Given the description of an element on the screen output the (x, y) to click on. 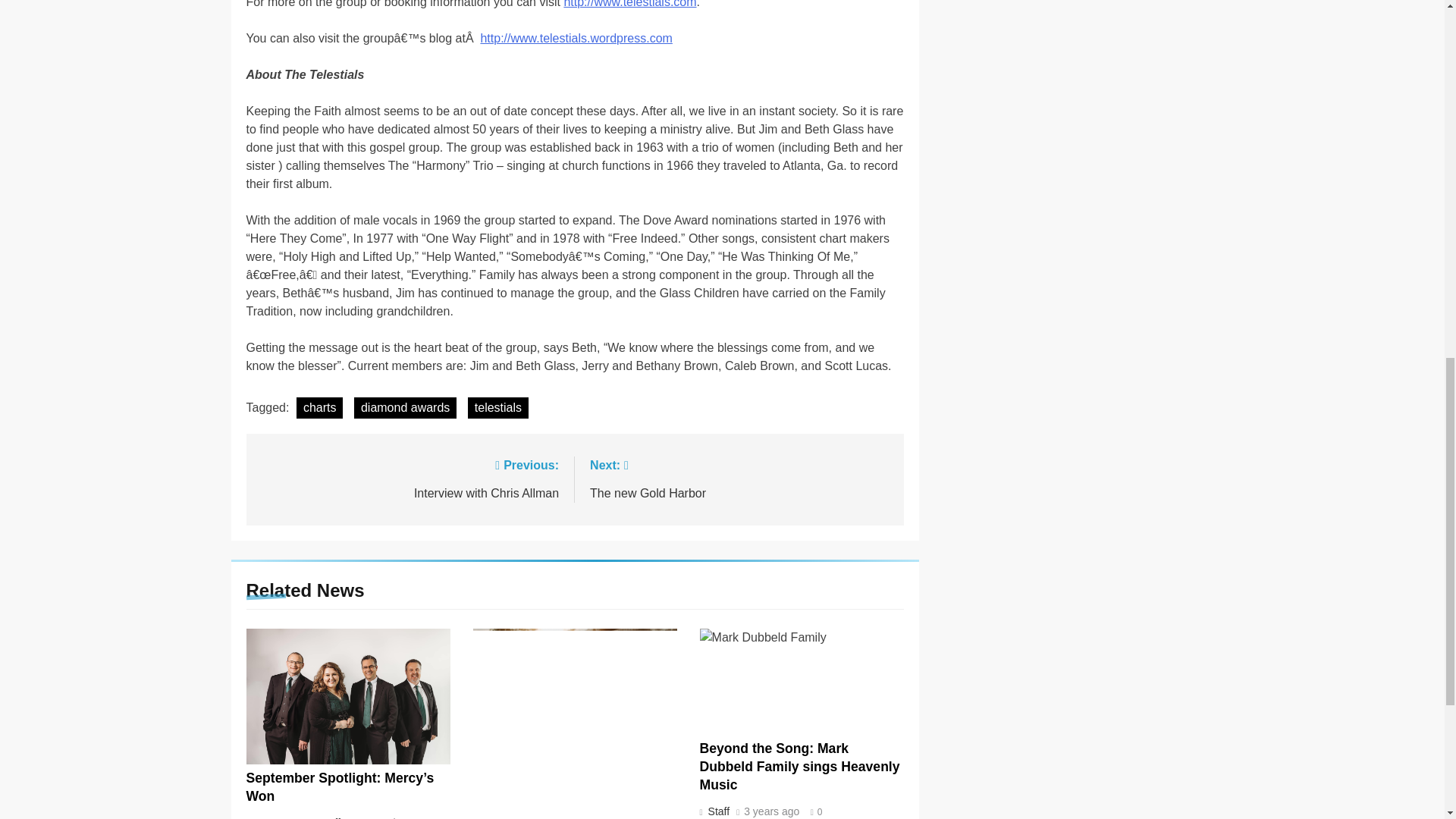
telestials (738, 477)
Staff (497, 407)
diamond awards (717, 811)
SGN Scoops Staff (405, 407)
Beyond the Song: Mark Dubbeld Family sings Heavenly Music (295, 817)
3 years ago (799, 766)
12 months ago (771, 811)
charts (390, 818)
